Given the description of an element on the screen output the (x, y) to click on. 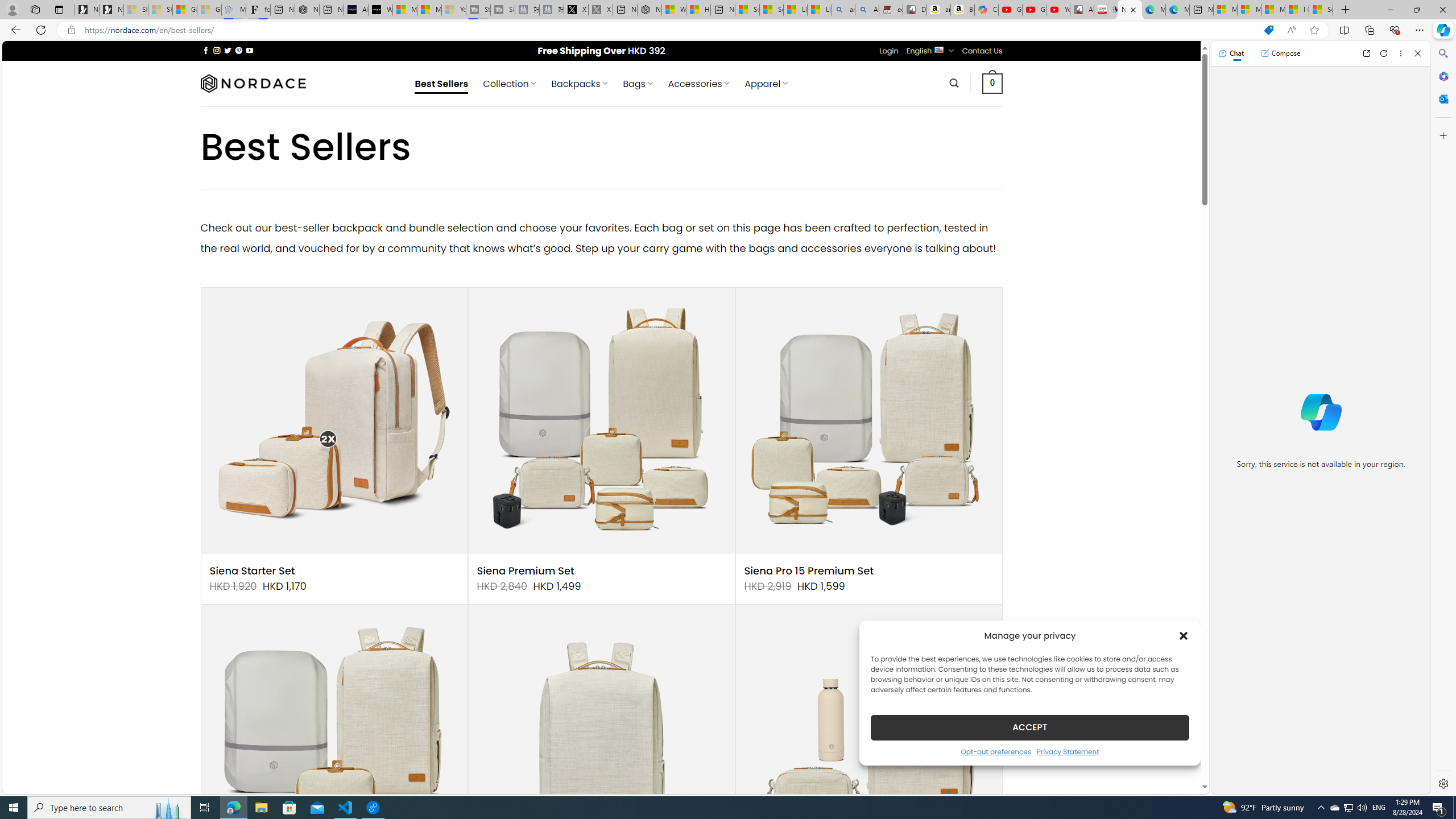
ACCEPT (1029, 727)
Opt-out preferences (995, 750)
